Given the description of an element on the screen output the (x, y) to click on. 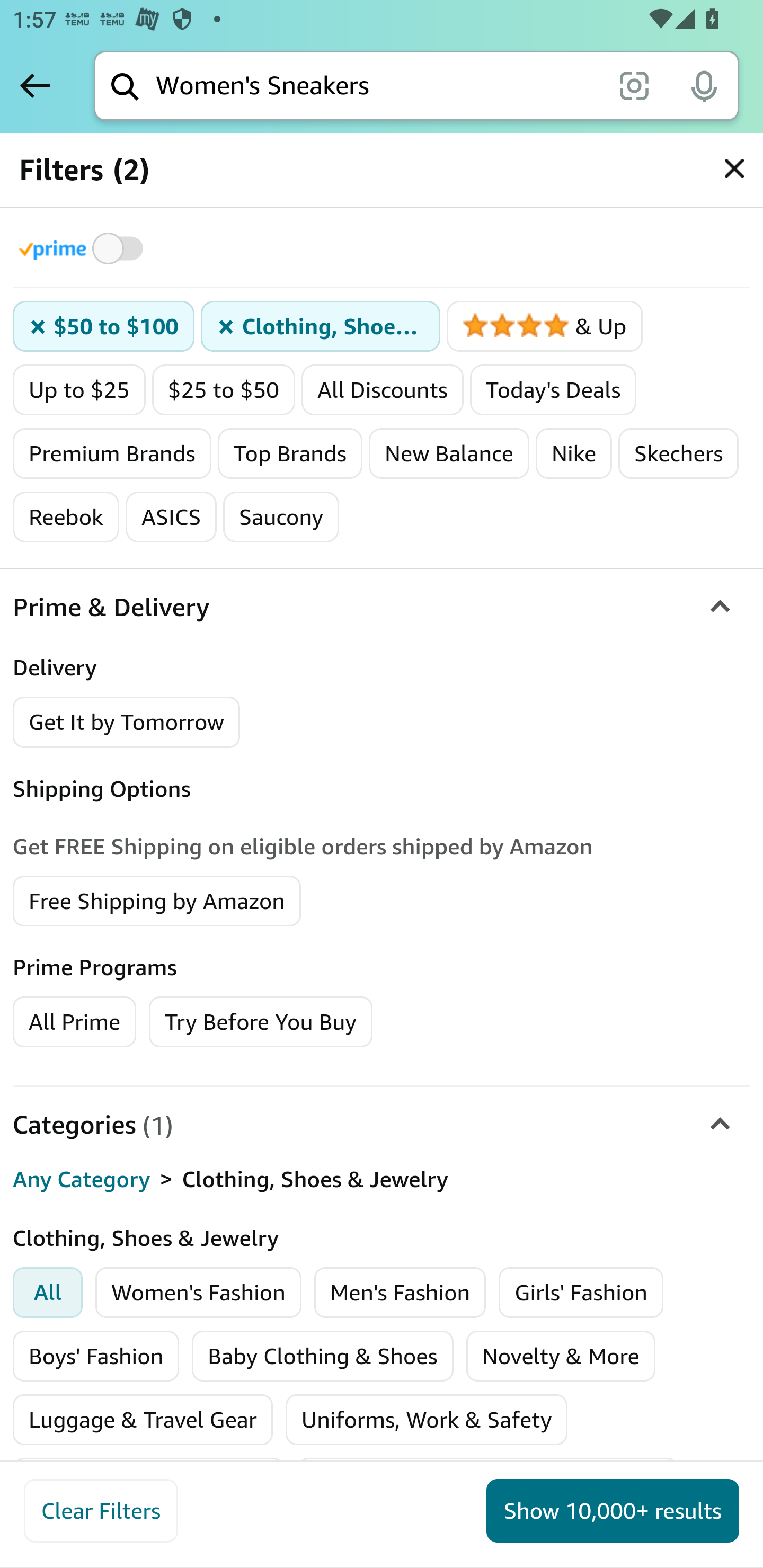
Back (35, 85)
scan it (633, 85)
Toggle to filter by Prime products Prime Eligible (83, 247)
× $50 to $100 × $50 to $100 (103, 326)
4 Stars & Up (544, 326)
Up to $25 (79, 390)
$25 to $50 (223, 390)
All Discounts (381, 390)
Today's Deals (553, 390)
Premium Brands (111, 453)
Top Brands (288, 453)
New Balance (449, 453)
Nike (574, 453)
Skechers (678, 453)
Reebok (66, 517)
ASICS (171, 517)
Saucony (281, 517)
Prime & Delivery (381, 607)
Get It by Tomorrow (126, 721)
Free Shipping by Amazon (157, 899)
All Prime (74, 1020)
Try Before You Buy (260, 1020)
Categories (1) (381, 1124)
Any Category (81, 1179)
Women's Fashion (198, 1292)
Men's Fashion (399, 1292)
Girls' Fashion (580, 1292)
Boys' Fashion (95, 1355)
Baby Clothing & Shoes (322, 1355)
Novelty & More (560, 1355)
Luggage & Travel Gear (142, 1419)
Uniforms, Work & Safety (426, 1419)
Clear Filters (100, 1510)
